Given the description of an element on the screen output the (x, y) to click on. 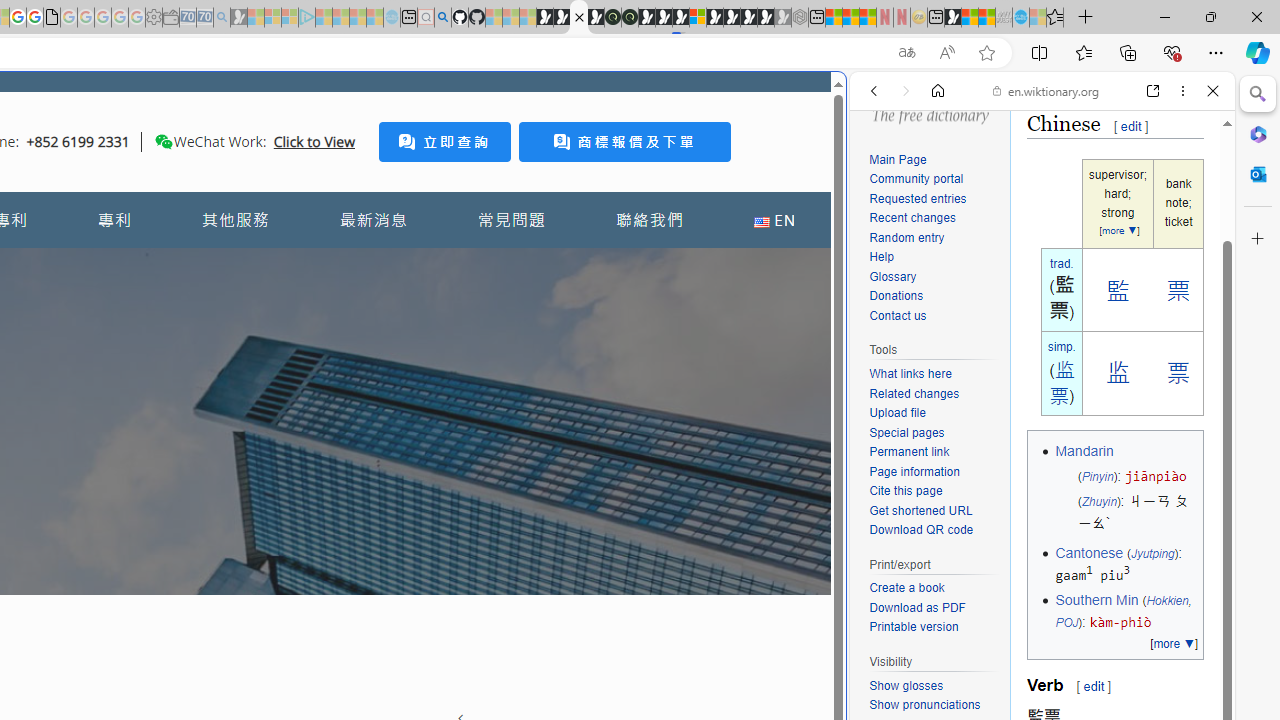
Southern Min (1096, 600)
Get shortened URL (934, 511)
Show pronunciations (934, 705)
Requested entries (917, 197)
Class: desktop (163, 141)
bank note; ticket (1178, 204)
